Given the description of an element on the screen output the (x, y) to click on. 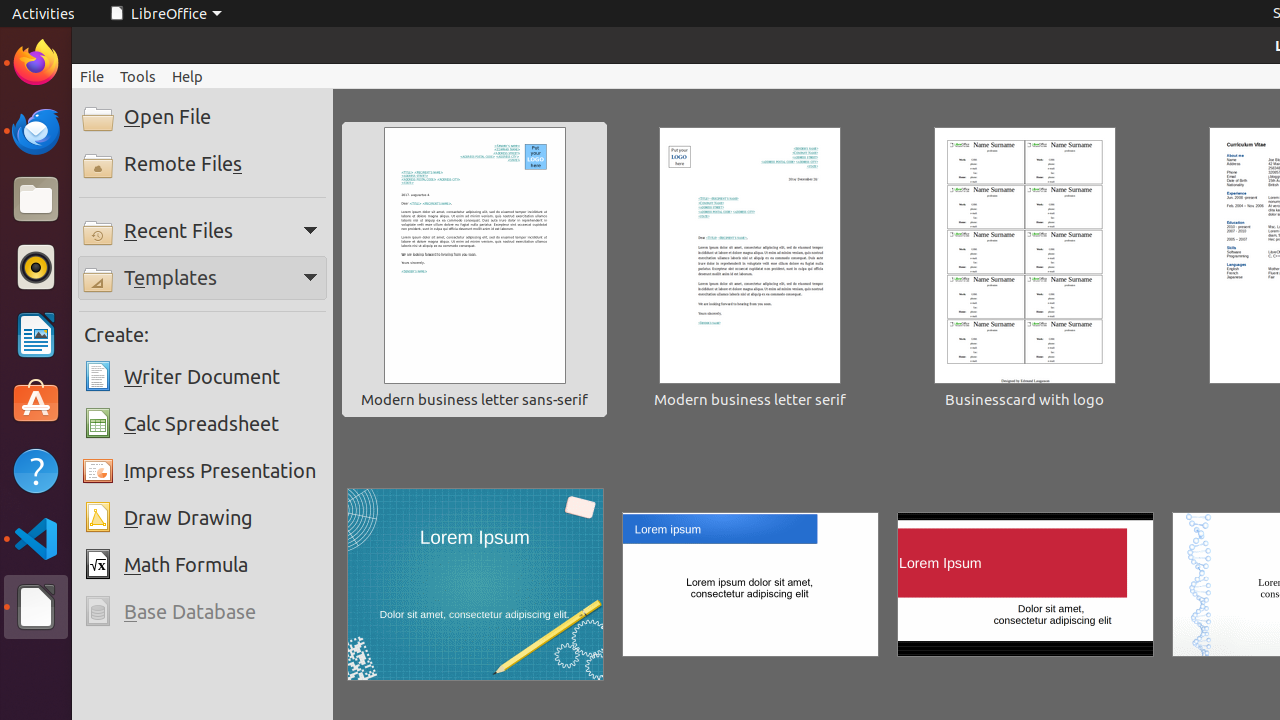
Businesscard with logo Element type: list-item (1025, 270)
Impress Presentation Element type: push-button (202, 471)
Remote Files Element type: push-button (202, 164)
LibreOffice Element type: push-button (36, 607)
